Given the description of an element on the screen output the (x, y) to click on. 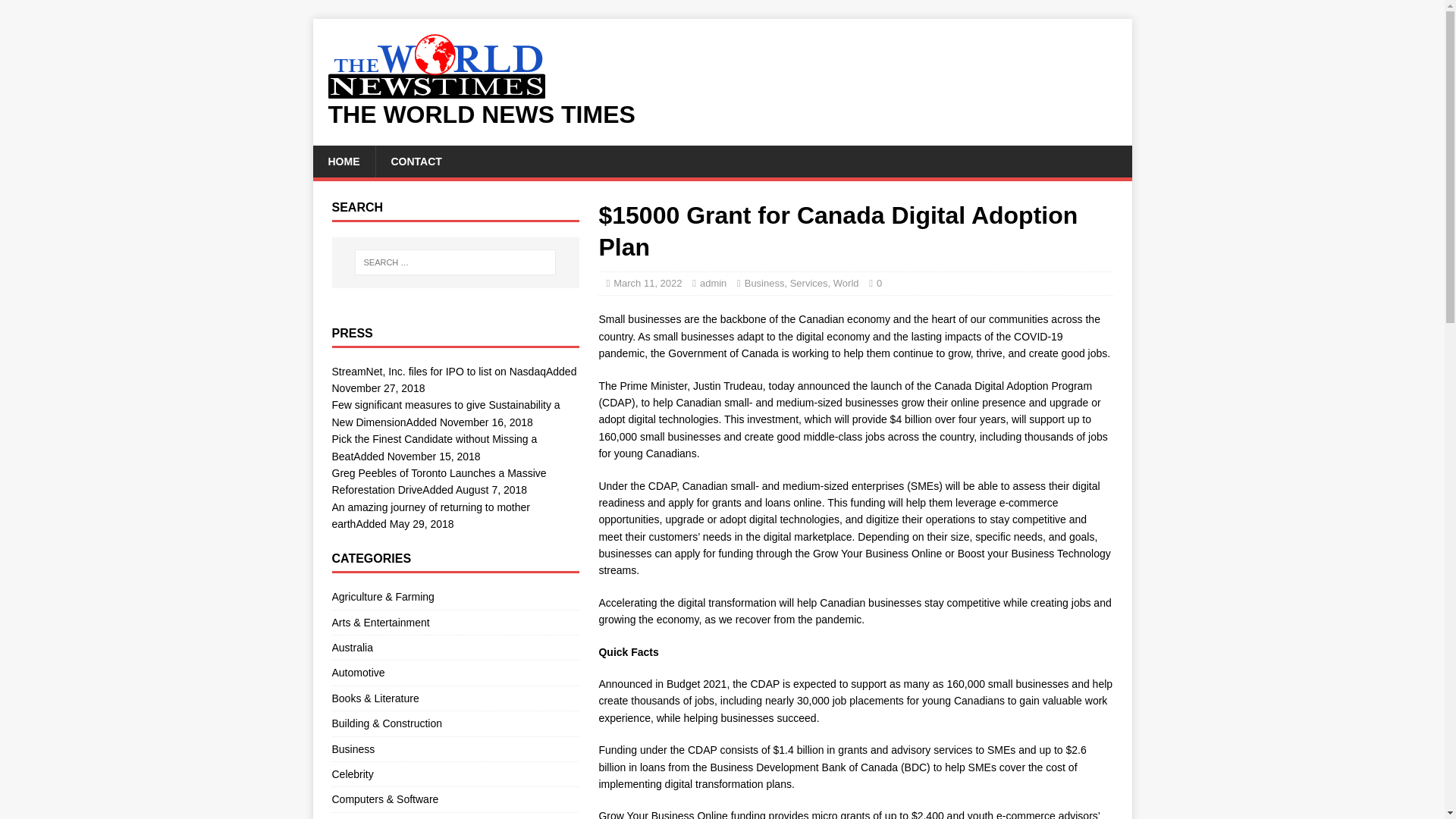
Services (809, 283)
admin (713, 283)
THE WORLD NEWS TIMES (721, 114)
Pick the Finest Candidate without Missing a Beat (434, 447)
0 (879, 283)
StreamNet, Inc. files for IPO to list on Nasdaq (438, 371)
Automotive (455, 672)
CONTACT (415, 161)
Search (56, 11)
An amazing journey of returning to mother earth (430, 515)
The World News Times (721, 114)
March 11, 2022 (646, 283)
Celebrity (455, 774)
Business (764, 283)
